Given the description of an element on the screen output the (x, y) to click on. 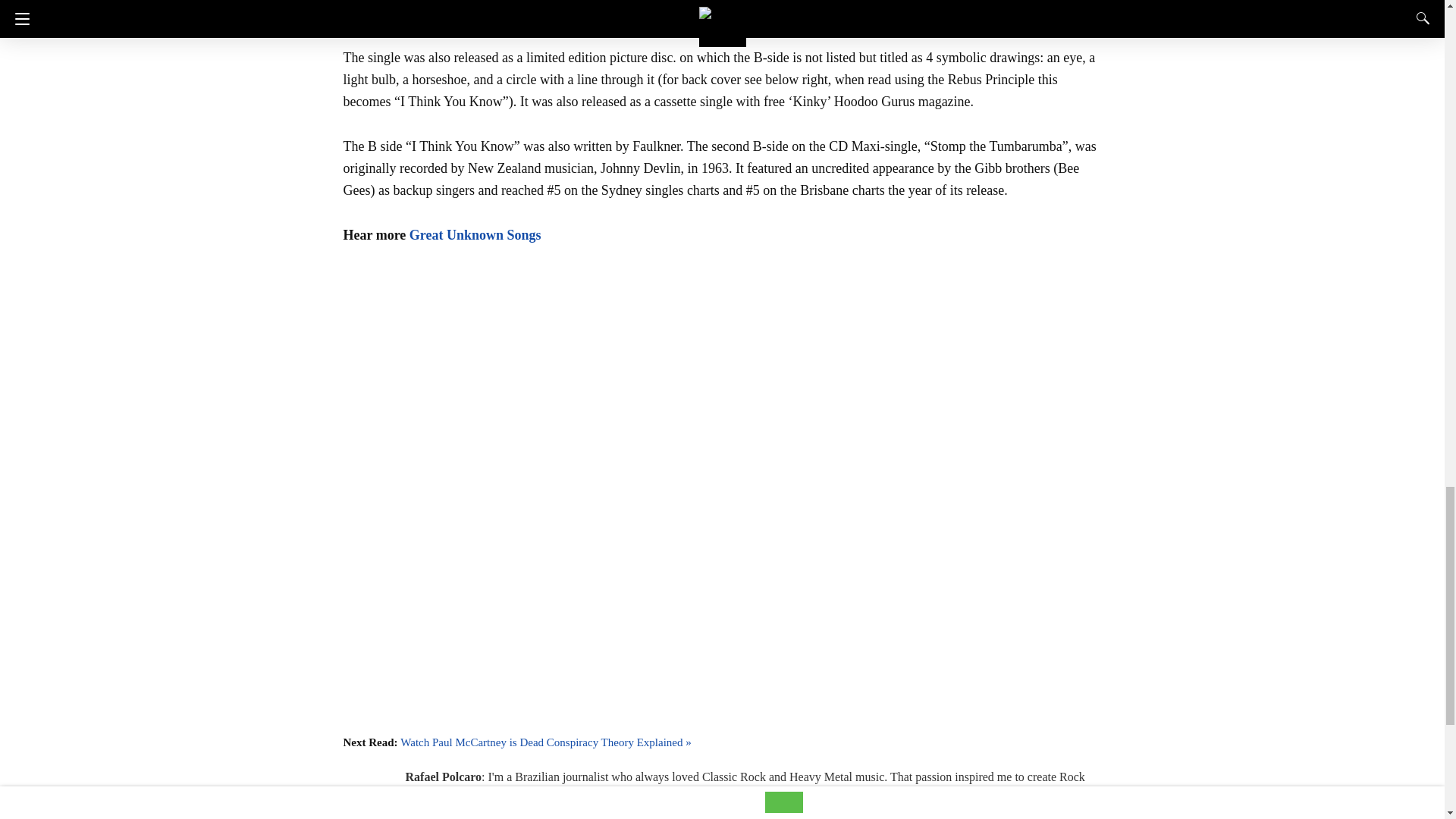
Great Unknown Songs (475, 234)
